Given the description of an element on the screen output the (x, y) to click on. 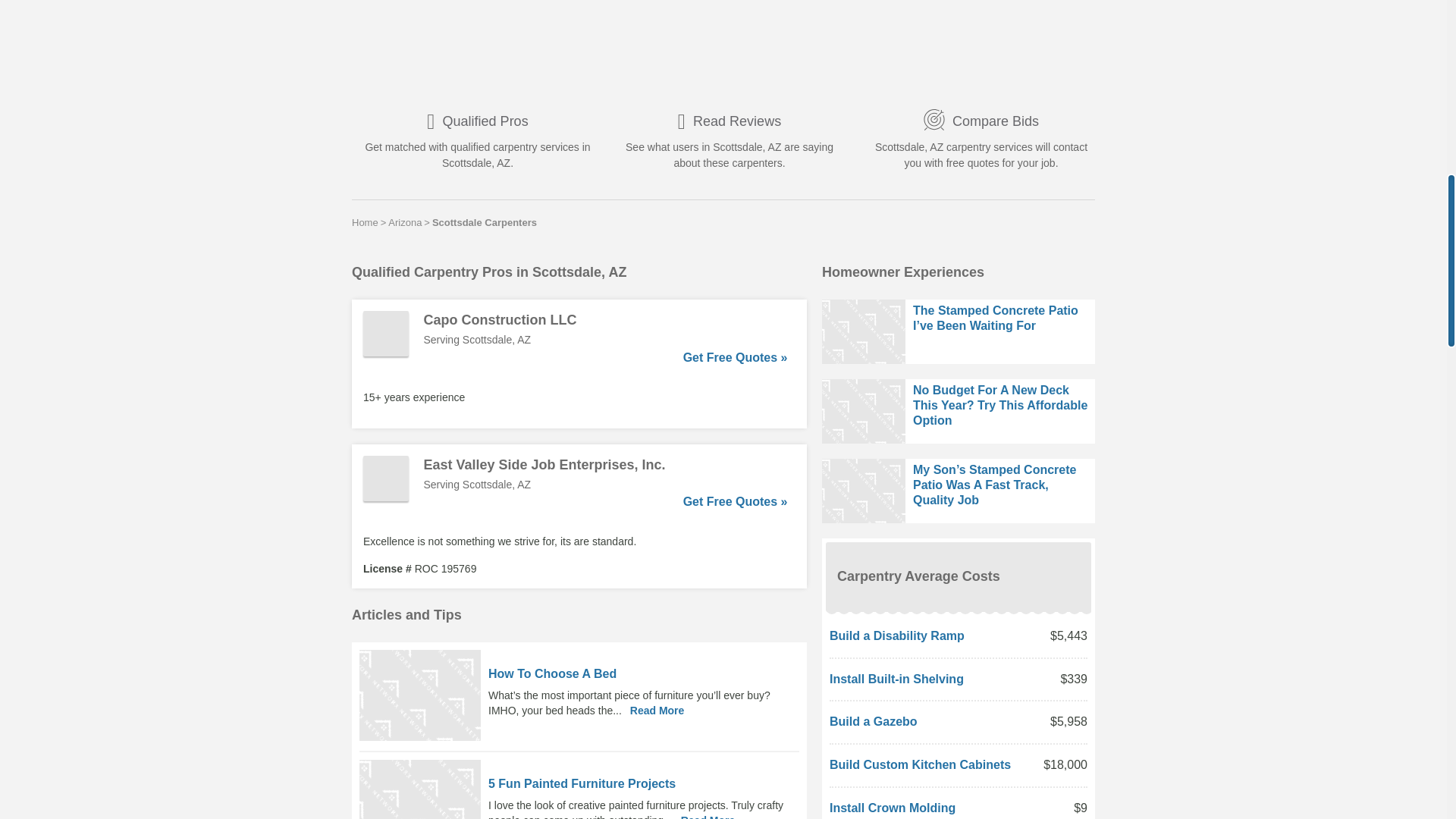
Home (365, 222)
Capo Construction LLC (605, 320)
Arizona (405, 222)
